Given the description of an element on the screen output the (x, y) to click on. 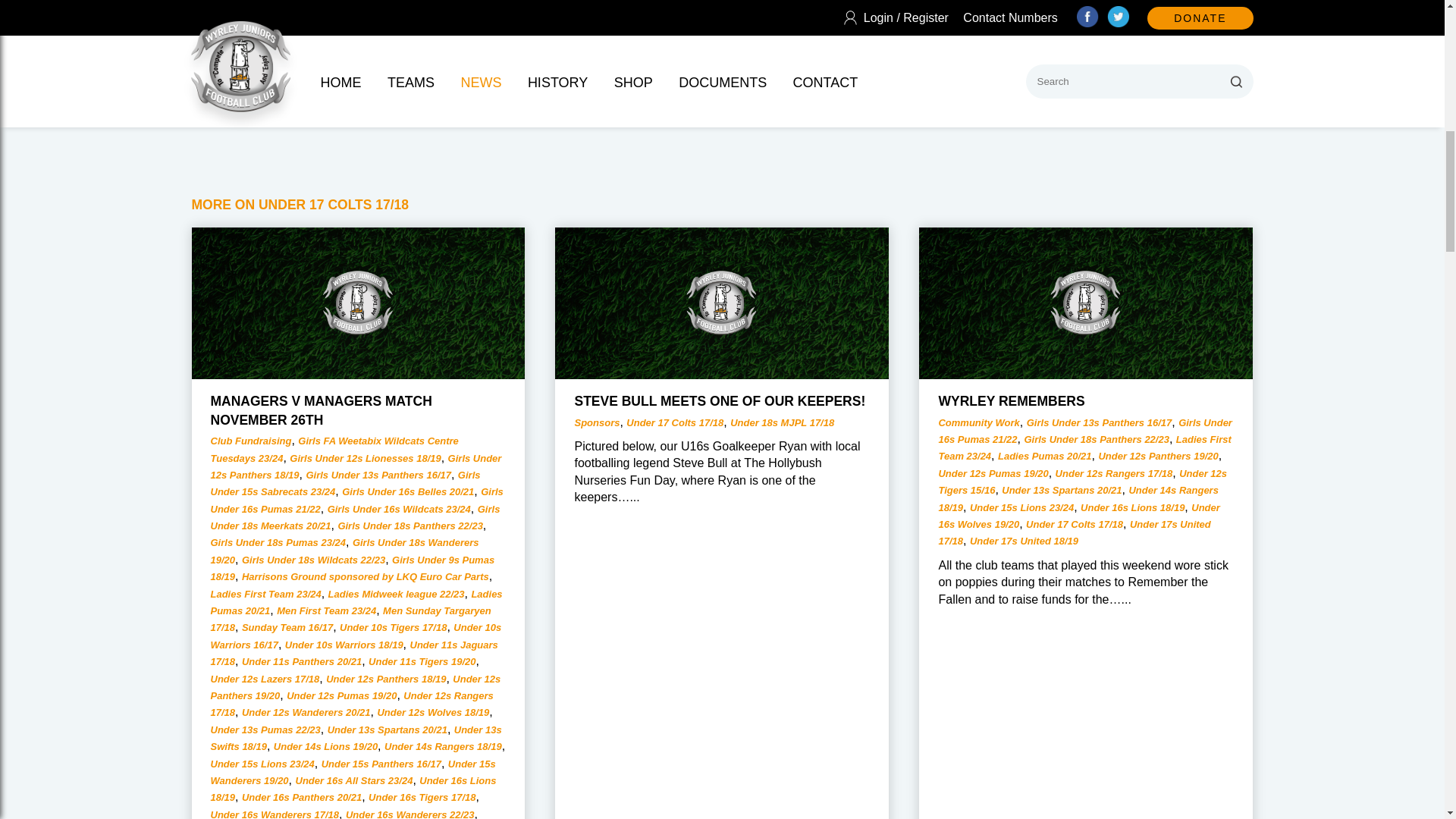
MANAGERS V MANAGERS MATCH NOVEMBER 26TH (321, 410)
Club Fundraising (251, 440)
